Given the description of an element on the screen output the (x, y) to click on. 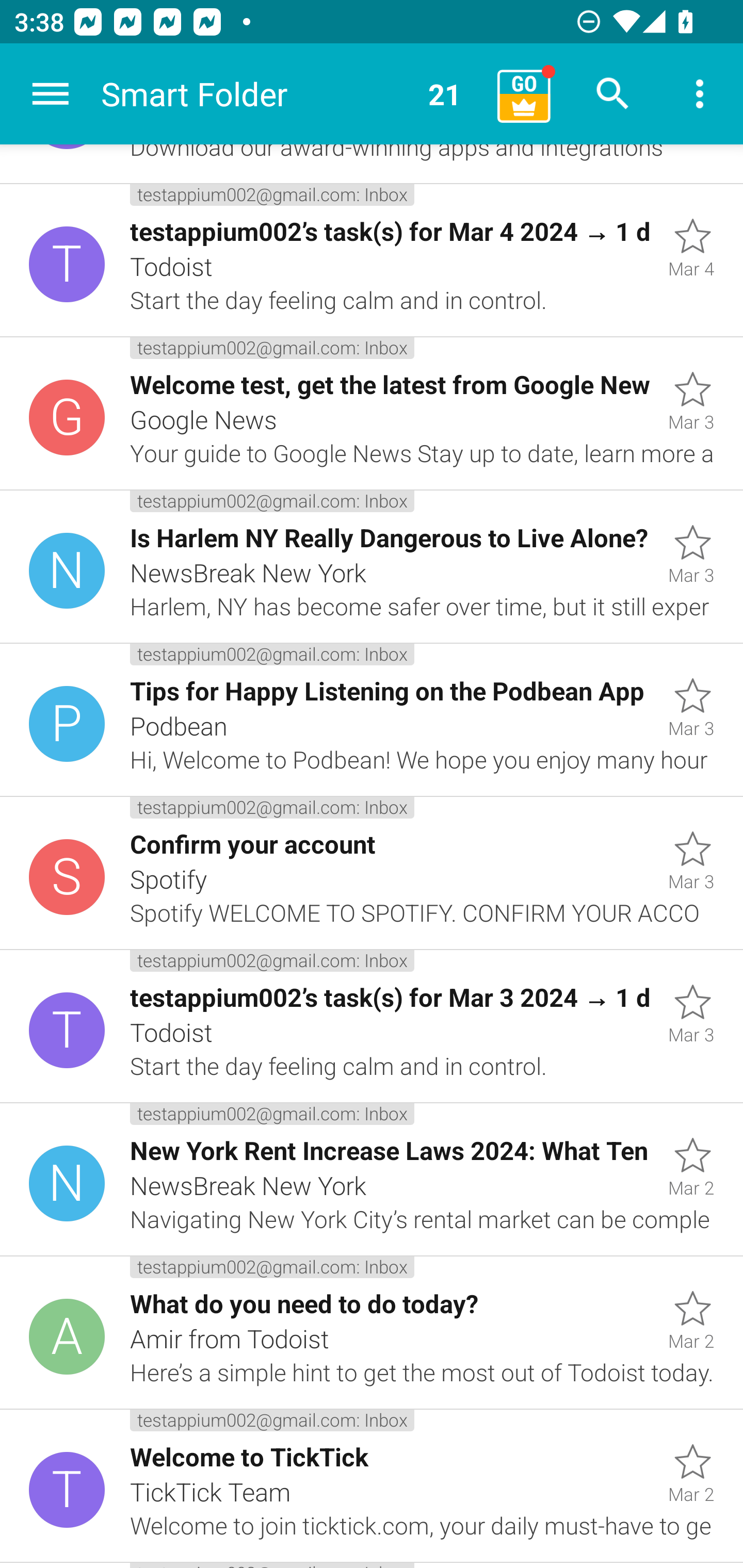
Navigate up (50, 93)
Smart Folder 21 (291, 93)
Search (612, 93)
More options (699, 93)
